Given the description of an element on the screen output the (x, y) to click on. 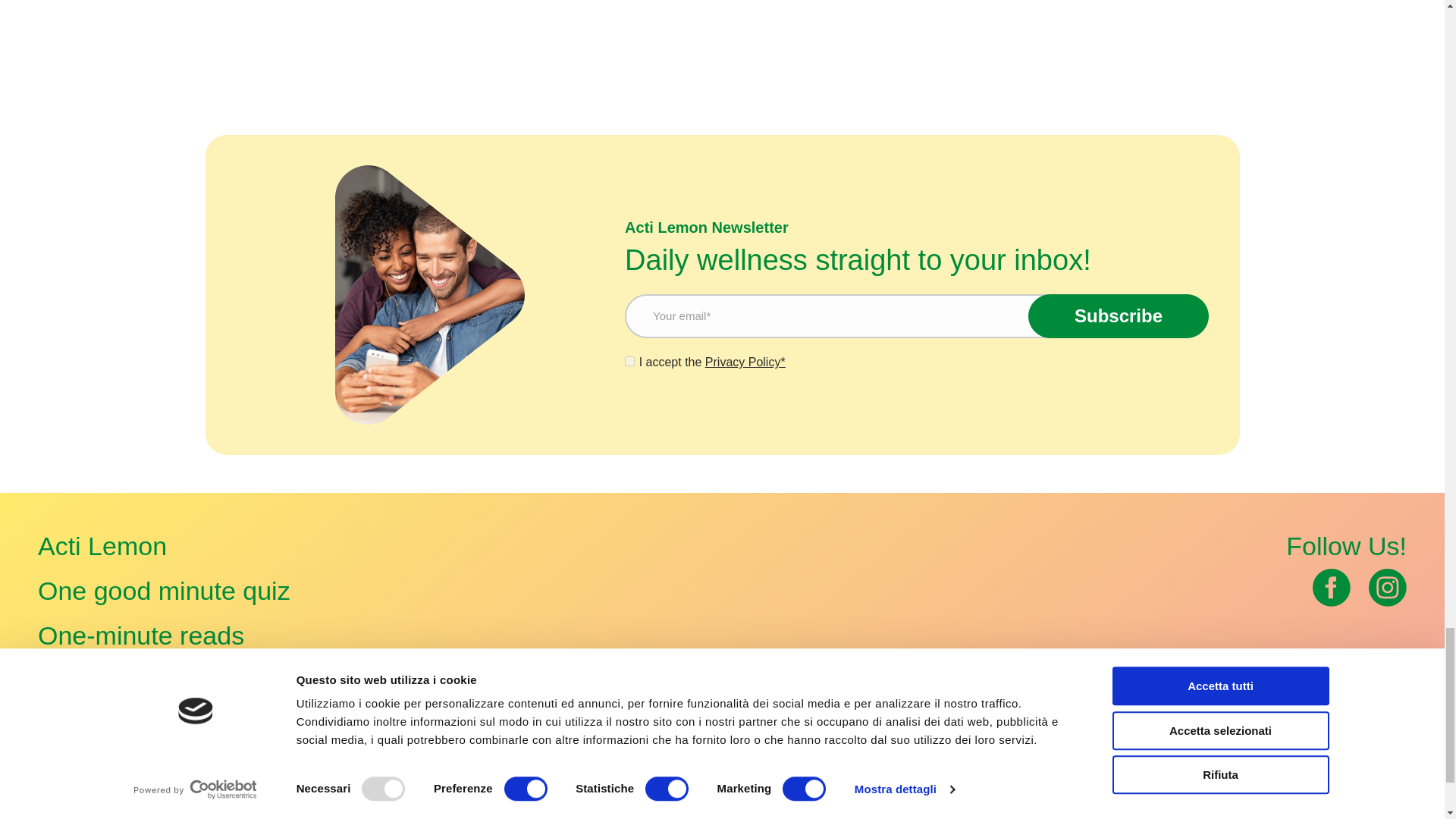
on (629, 361)
